Given the description of an element on the screen output the (x, y) to click on. 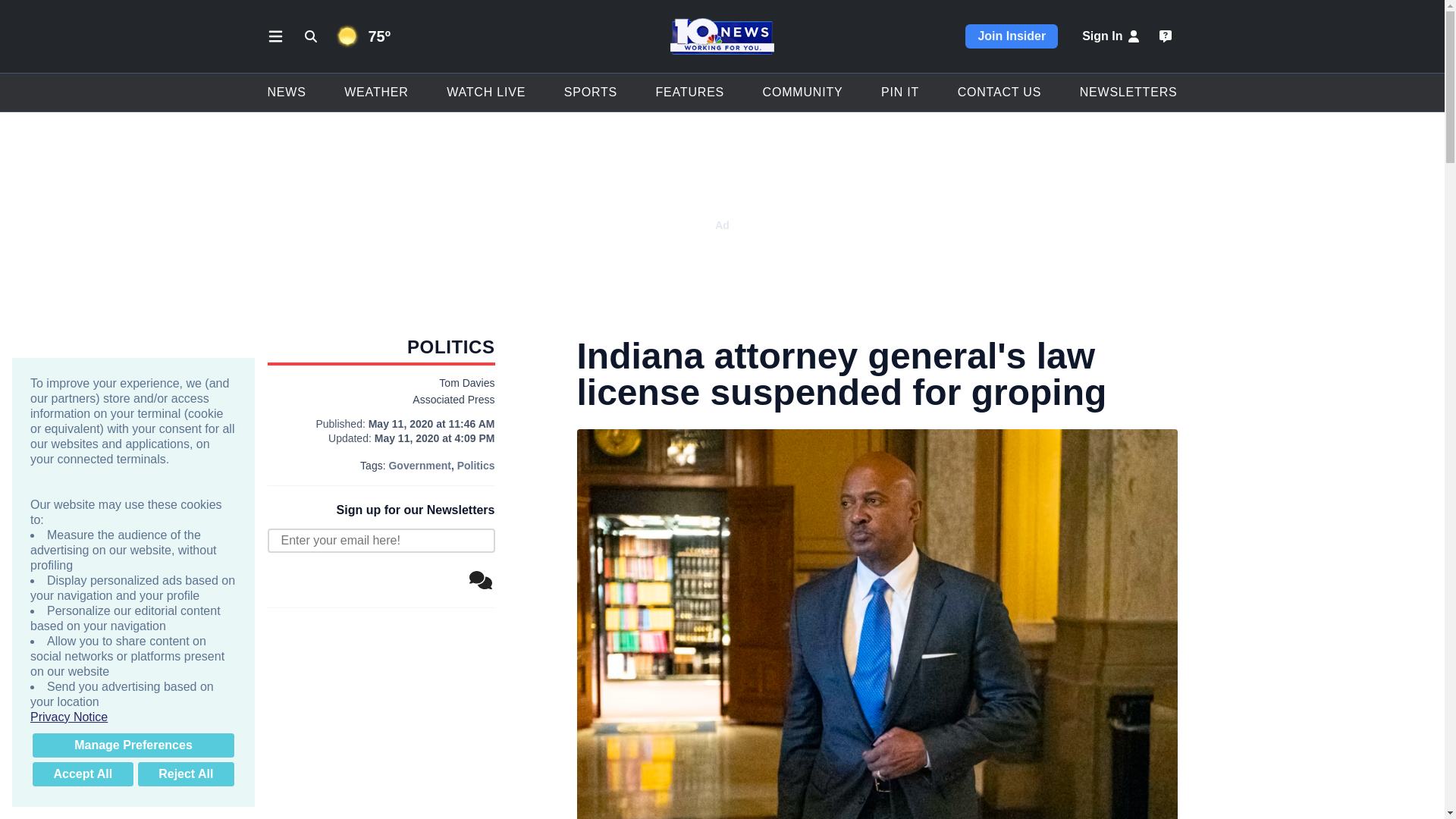
Accept All (82, 774)
Reject All (185, 774)
Manage Preferences (133, 745)
Sign In (1111, 36)
Join Insider (1011, 36)
Privacy Notice (132, 717)
